Given the description of an element on the screen output the (x, y) to click on. 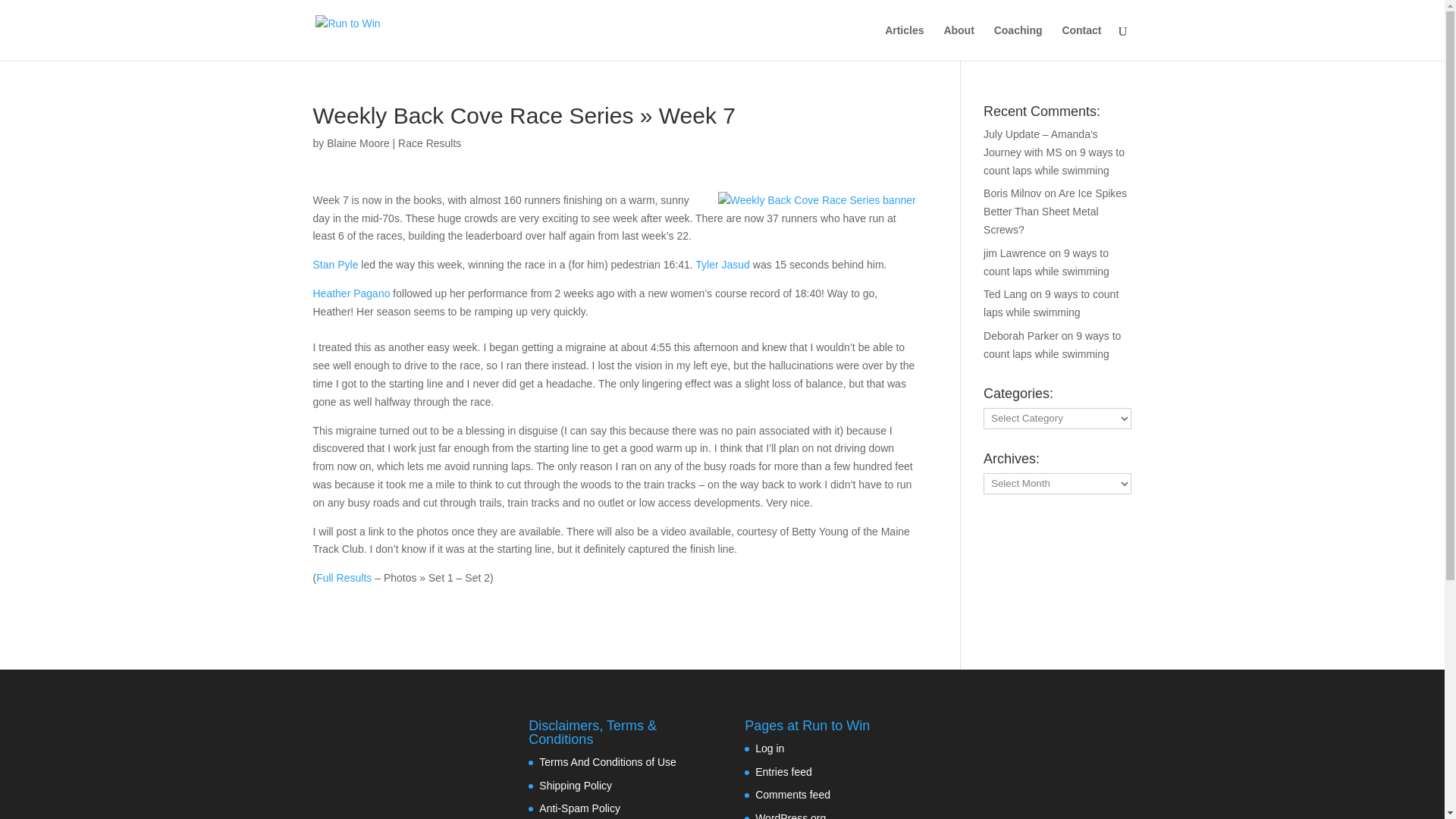
Log in (769, 748)
Anti-Spam Policy (579, 808)
Terms And Conditions of Use (607, 761)
9 ways to count laps while swimming (1046, 262)
Coaching (1018, 42)
Tyler Jasud (722, 264)
Stan Pyle (335, 264)
WordPress.org (790, 815)
Are Ice Spikes Better Than Sheet Metal Screws? (1055, 211)
Contact (1080, 42)
9 ways to count laps while swimming (1054, 161)
Blaine Moore (358, 143)
9 ways to count laps while swimming (1051, 303)
Entries feed (783, 771)
Comments feed (792, 794)
